Given the description of an element on the screen output the (x, y) to click on. 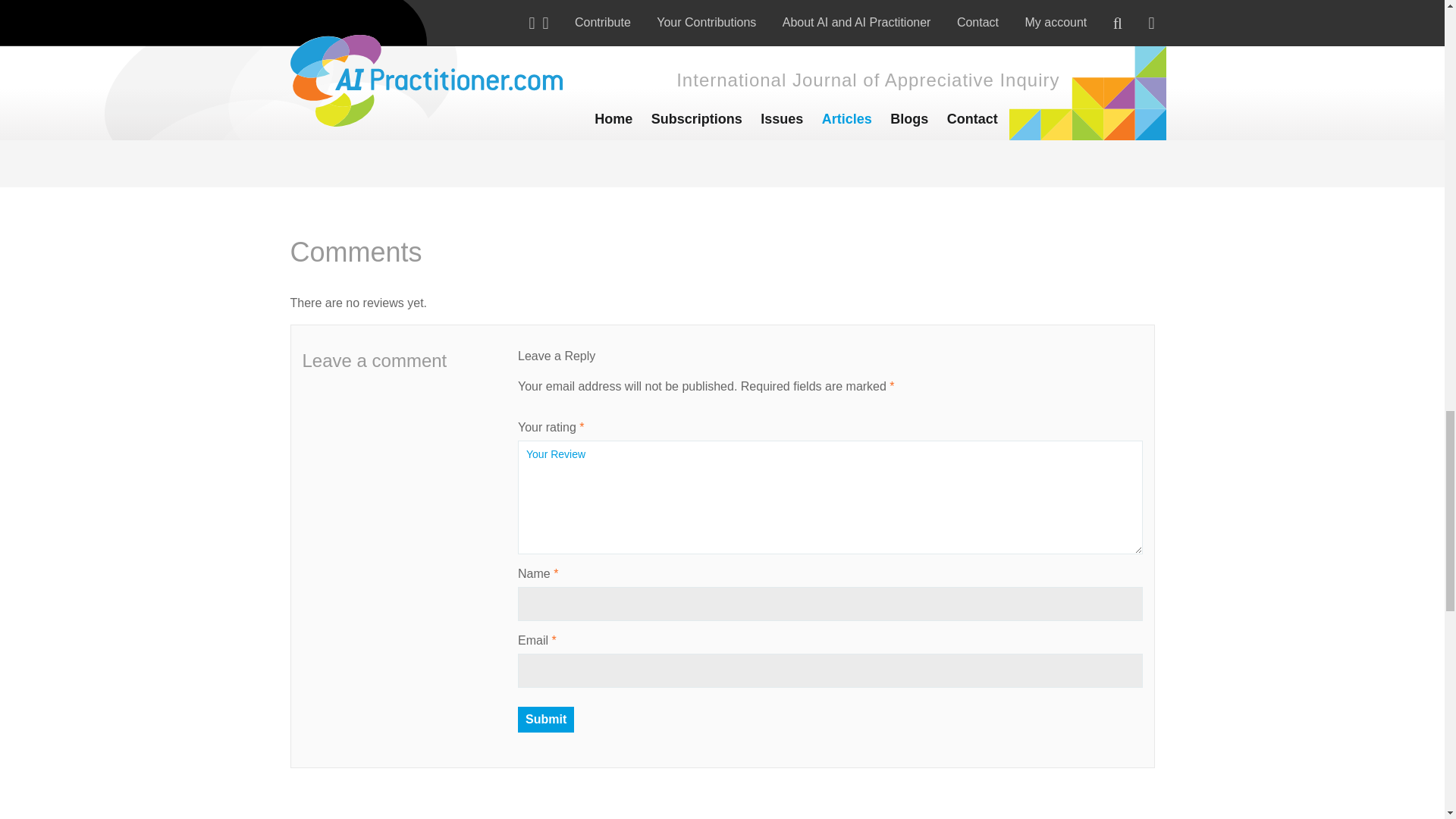
Submit (545, 719)
Jeff Branch (994, 33)
